Given the description of an element on the screen output the (x, y) to click on. 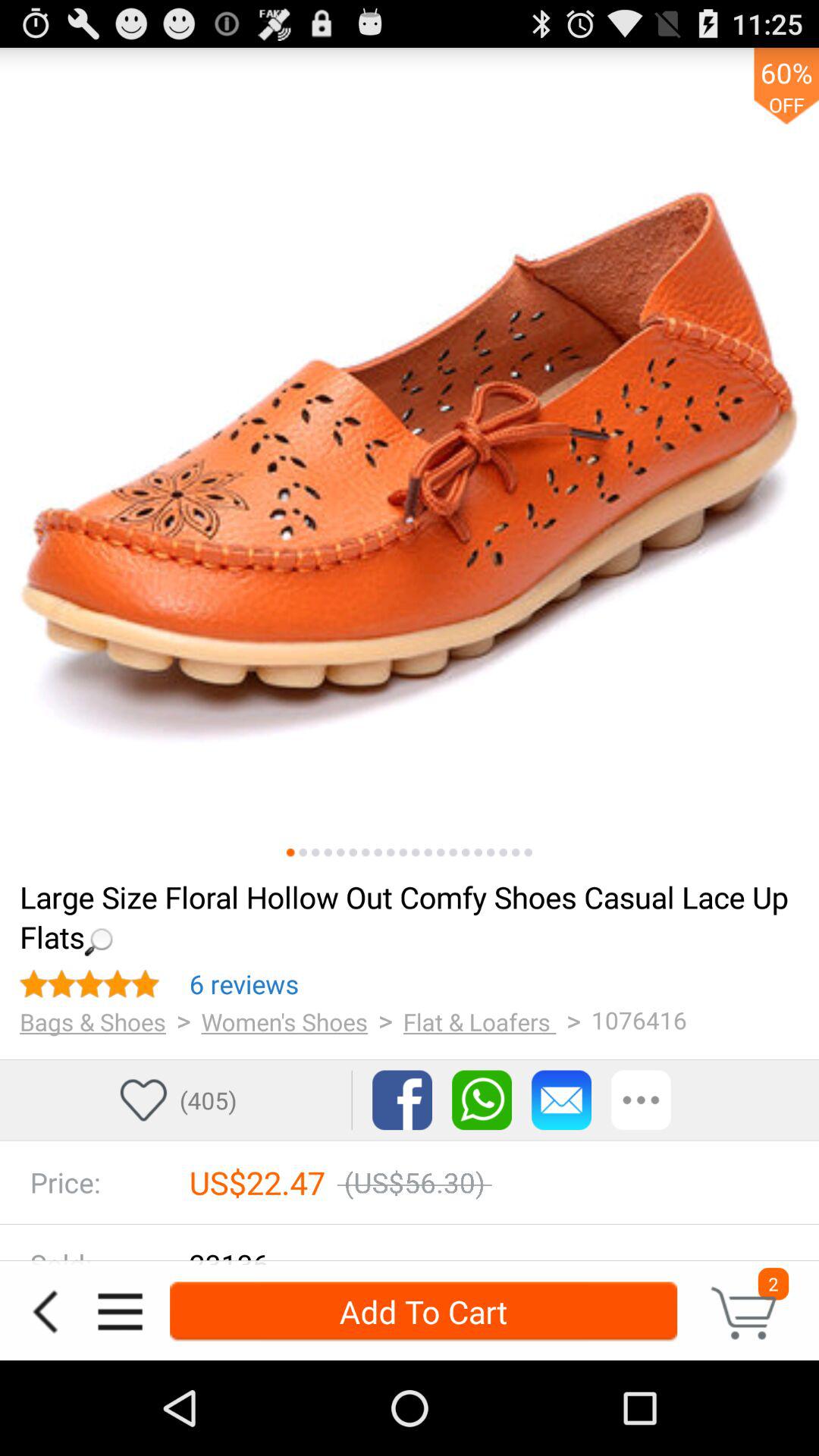
different picture (353, 852)
